Given the description of an element on the screen output the (x, y) to click on. 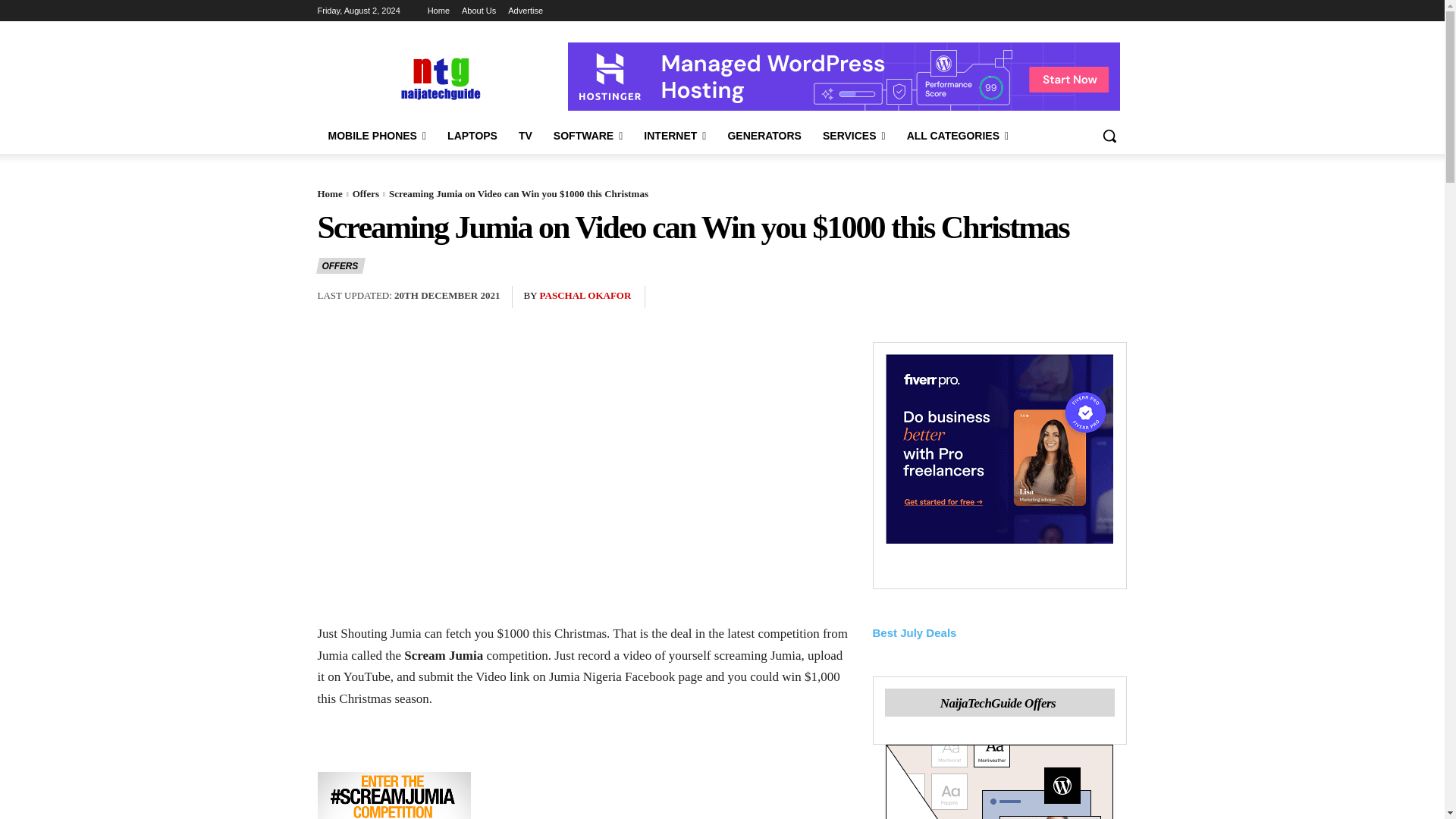
Advertise (525, 10)
MOBILE PHONES (376, 135)
Home (438, 10)
NaijaTechGuide (438, 76)
NaijaTechGuide (438, 76)
Advertise and Promote your Business on NaijaTechGuide NTG (525, 10)
About Us (478, 10)
